Given the description of an element on the screen output the (x, y) to click on. 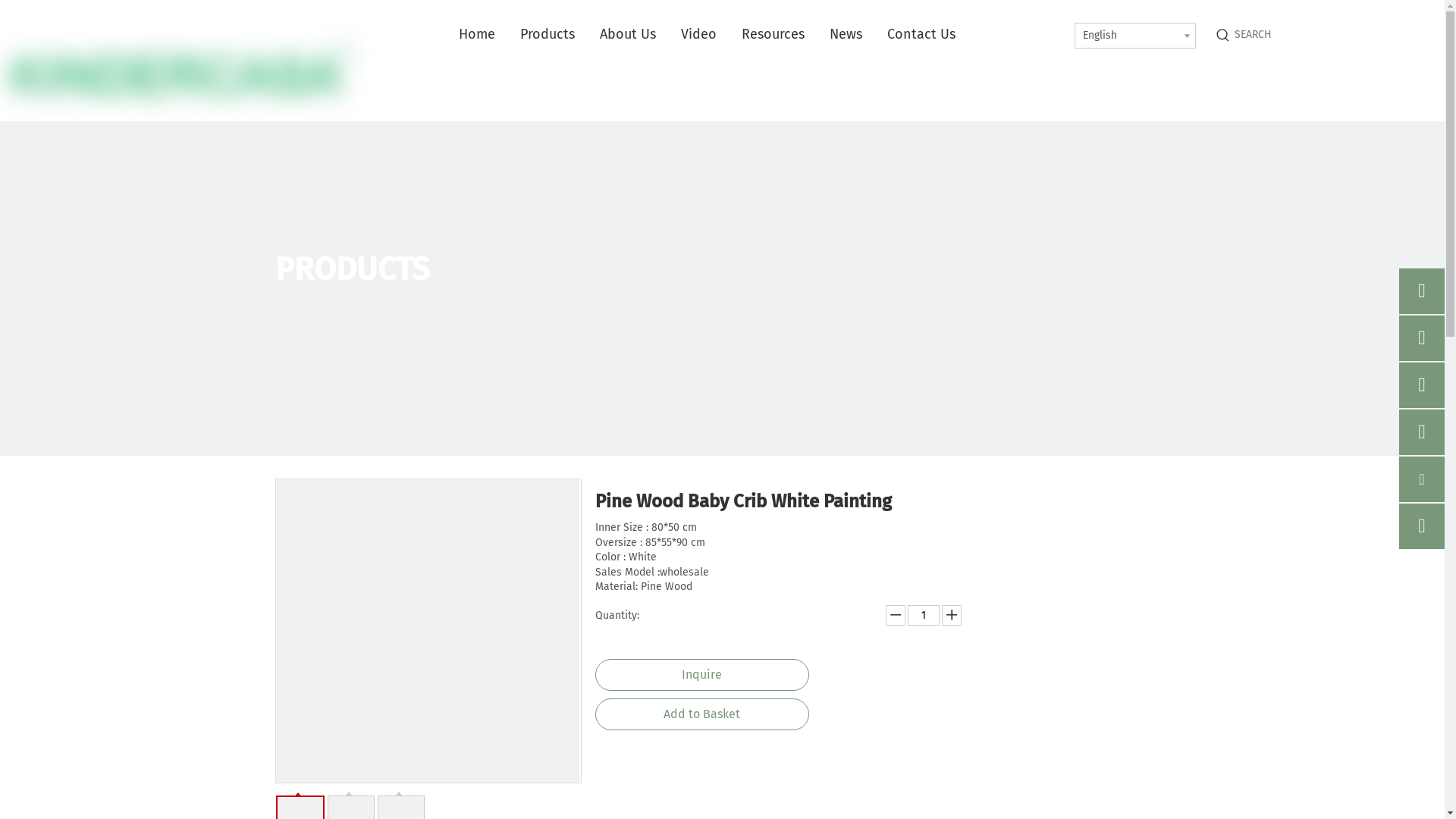
Contact Us Element type: text (908, 33)
Home Element type: text (464, 33)
Products Element type: text (534, 33)
About Us Element type: text (614, 33)
News Element type: text (833, 33)
crop_1599813884679 Element type: hover (180, 71)
Video Element type: text (685, 33)
Inquire Element type: text (701, 674)
Resources Element type: text (760, 33)
Add to Basket Element type: text (701, 714)
